Given the description of an element on the screen output the (x, y) to click on. 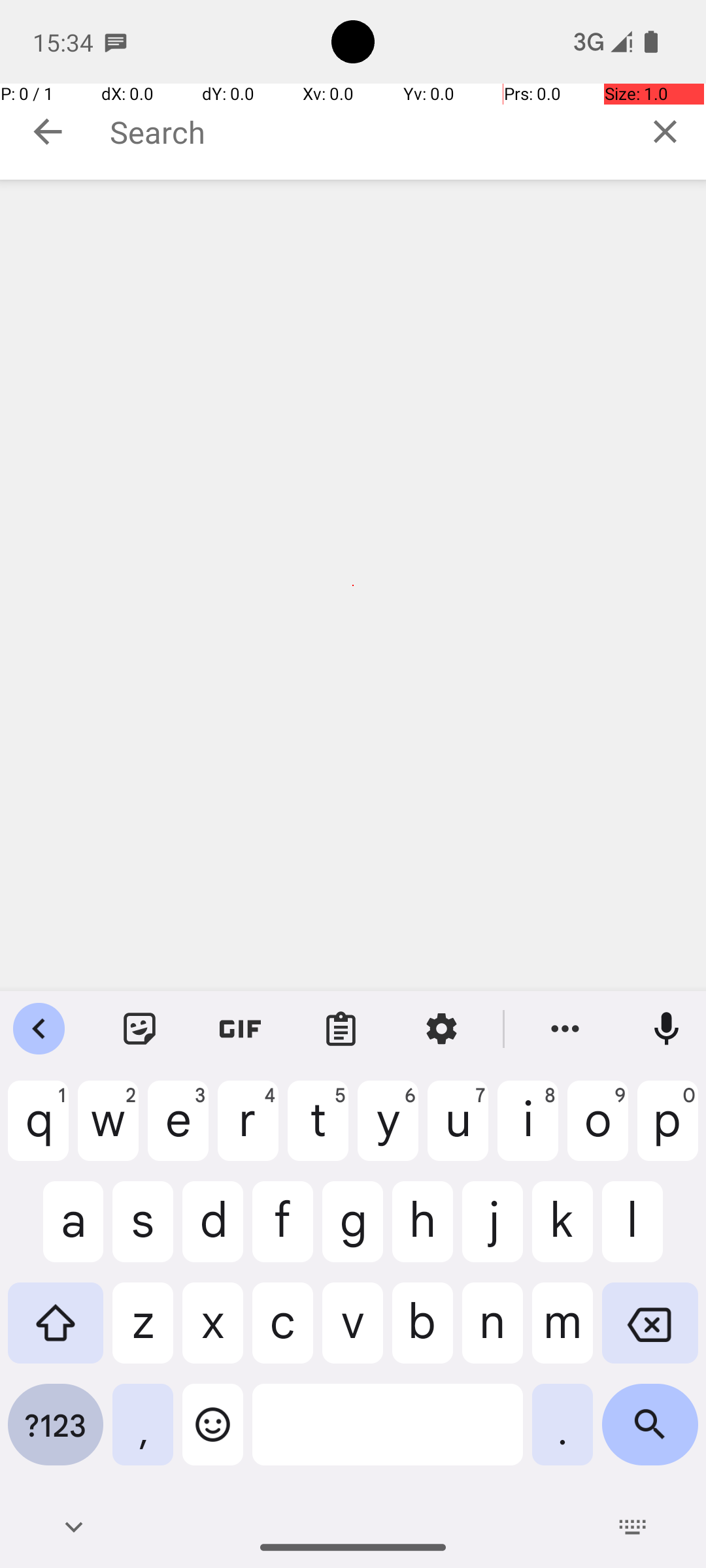
Clear Element type: android.widget.ImageButton (664, 131)
